Given the description of an element on the screen output the (x, y) to click on. 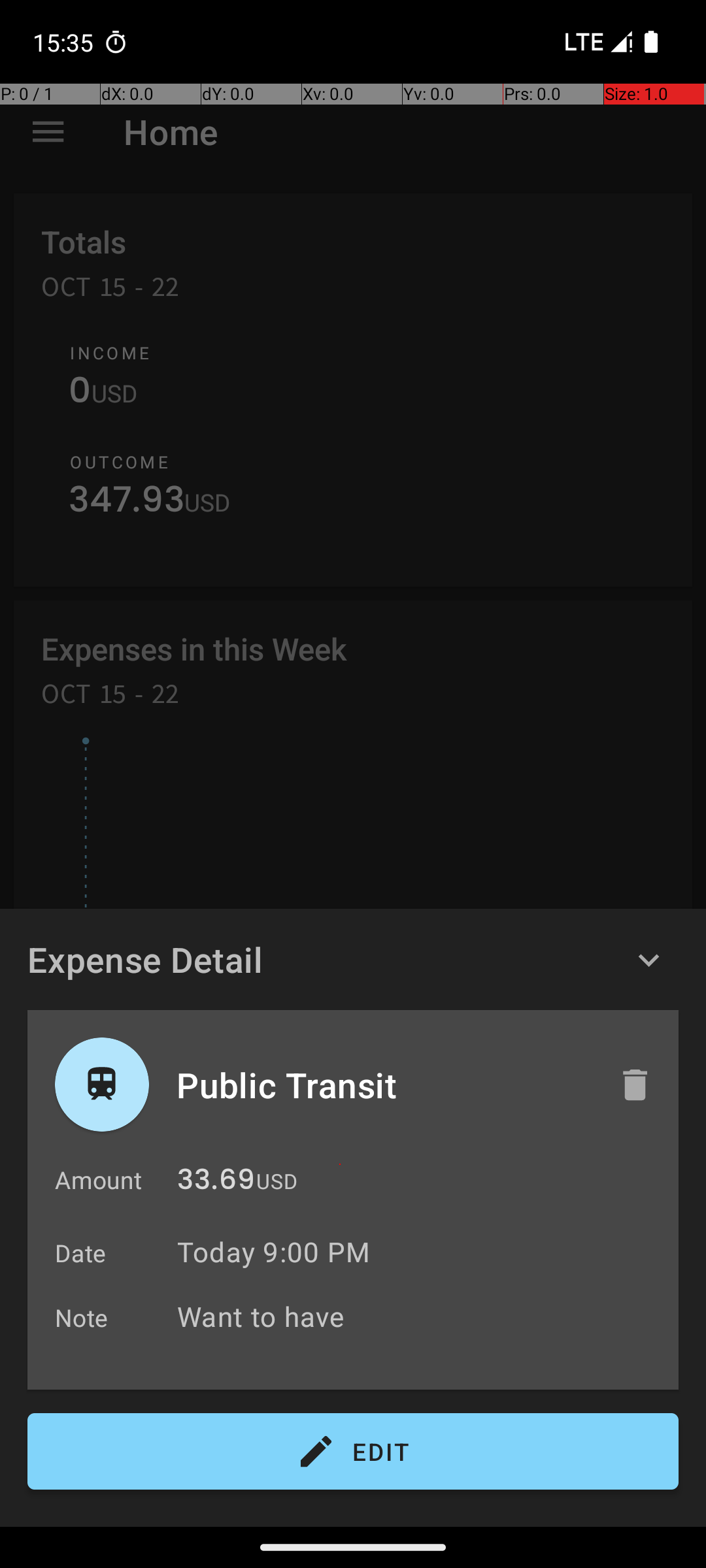
Public Transit Element type: android.widget.TextView (383, 1084)
33.69 Element type: android.widget.TextView (215, 1182)
